Given the description of an element on the screen output the (x, y) to click on. 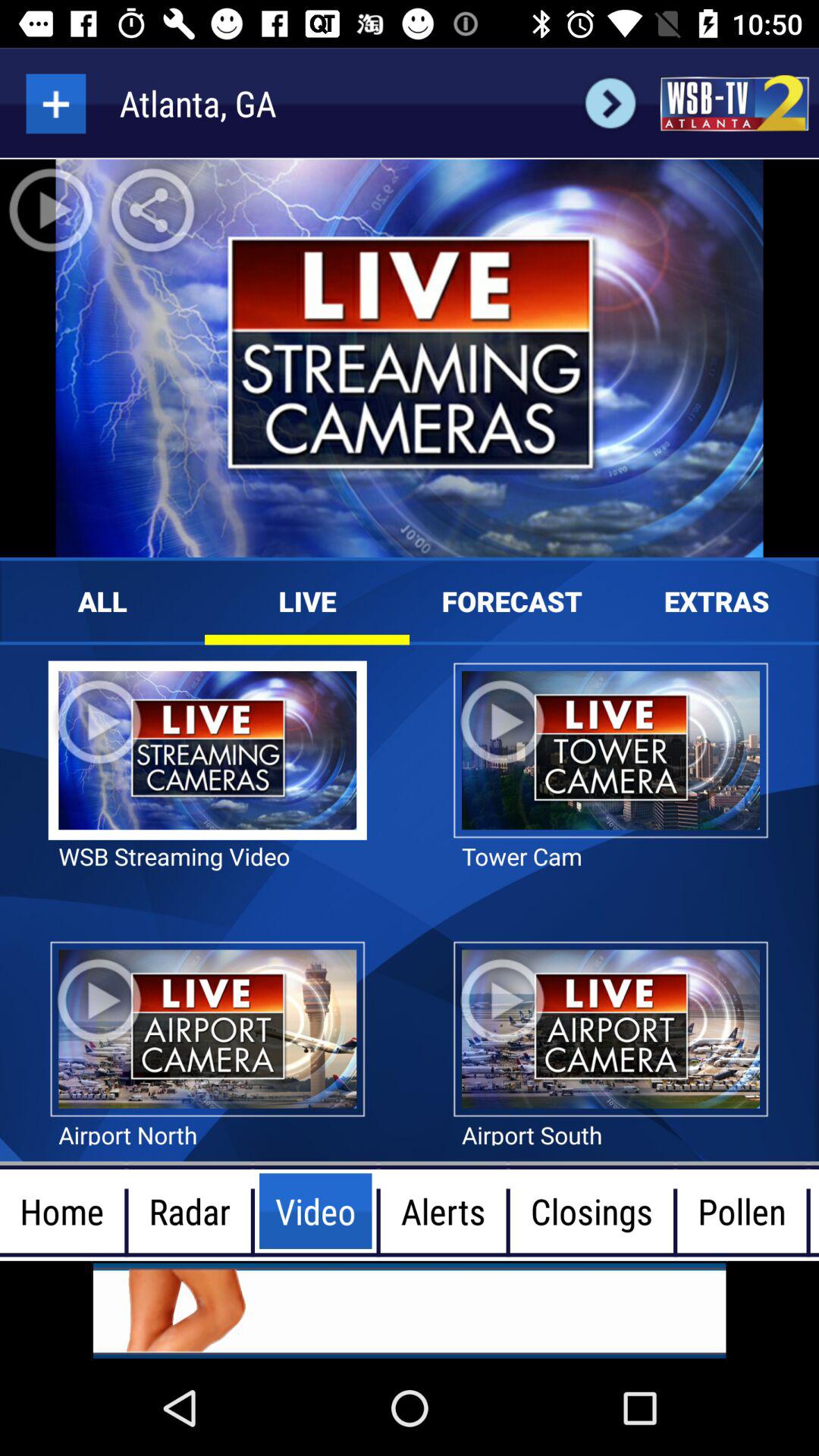
go to main page (734, 103)
